Given the description of an element on the screen output the (x, y) to click on. 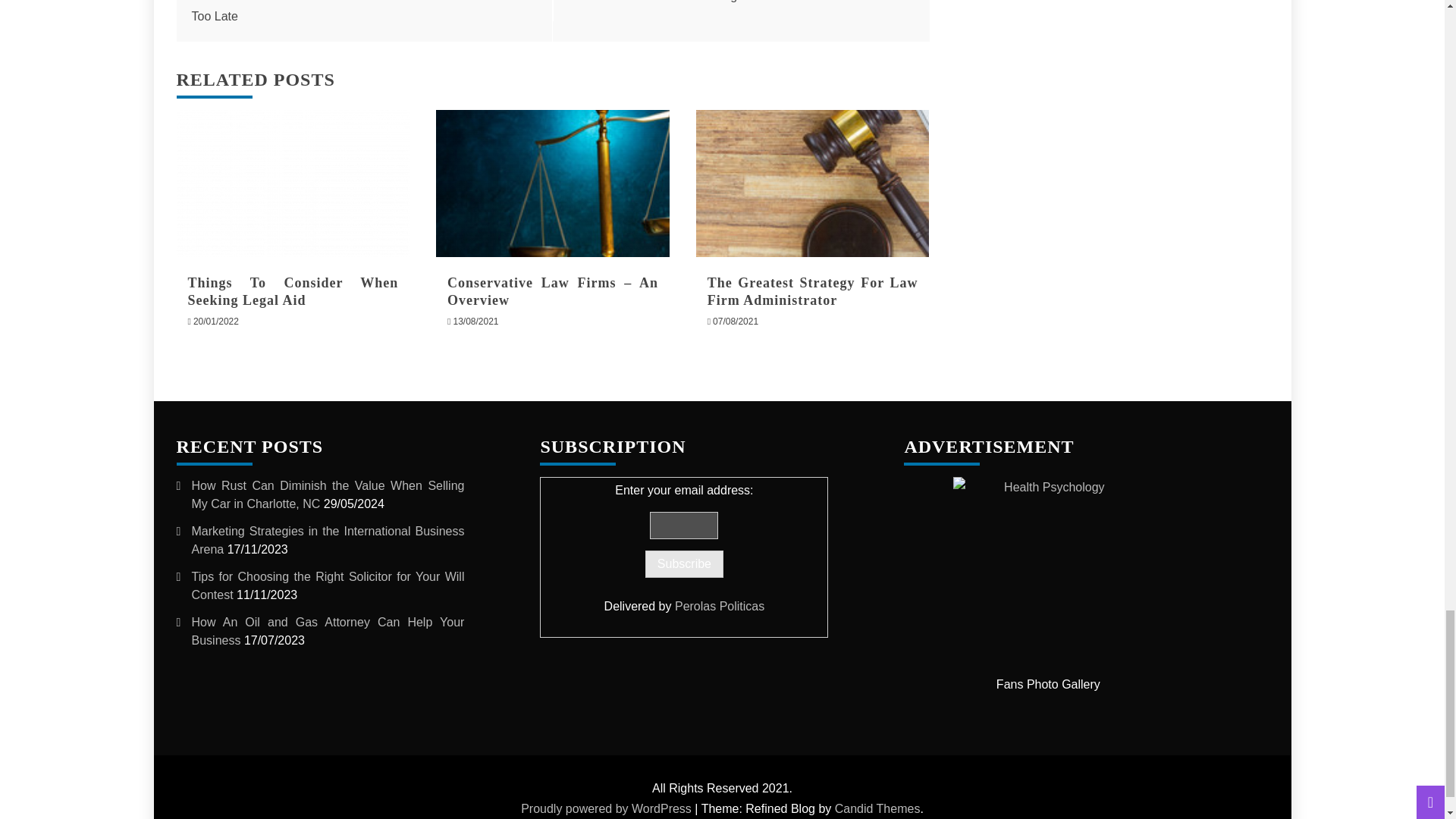
Things To Consider When Seeking Legal Aid (292, 182)
Things To Consider When Seeking Legal Aid (292, 291)
The Legal Office Administration Diaries (797, 1)
Subscribe (684, 564)
Conservative Law Firms - An Overview (552, 182)
The Greatest Strategy For Law Firm Administrator (812, 291)
The Greatest Strategy For Law Firm Administrator (812, 182)
